Given the description of an element on the screen output the (x, y) to click on. 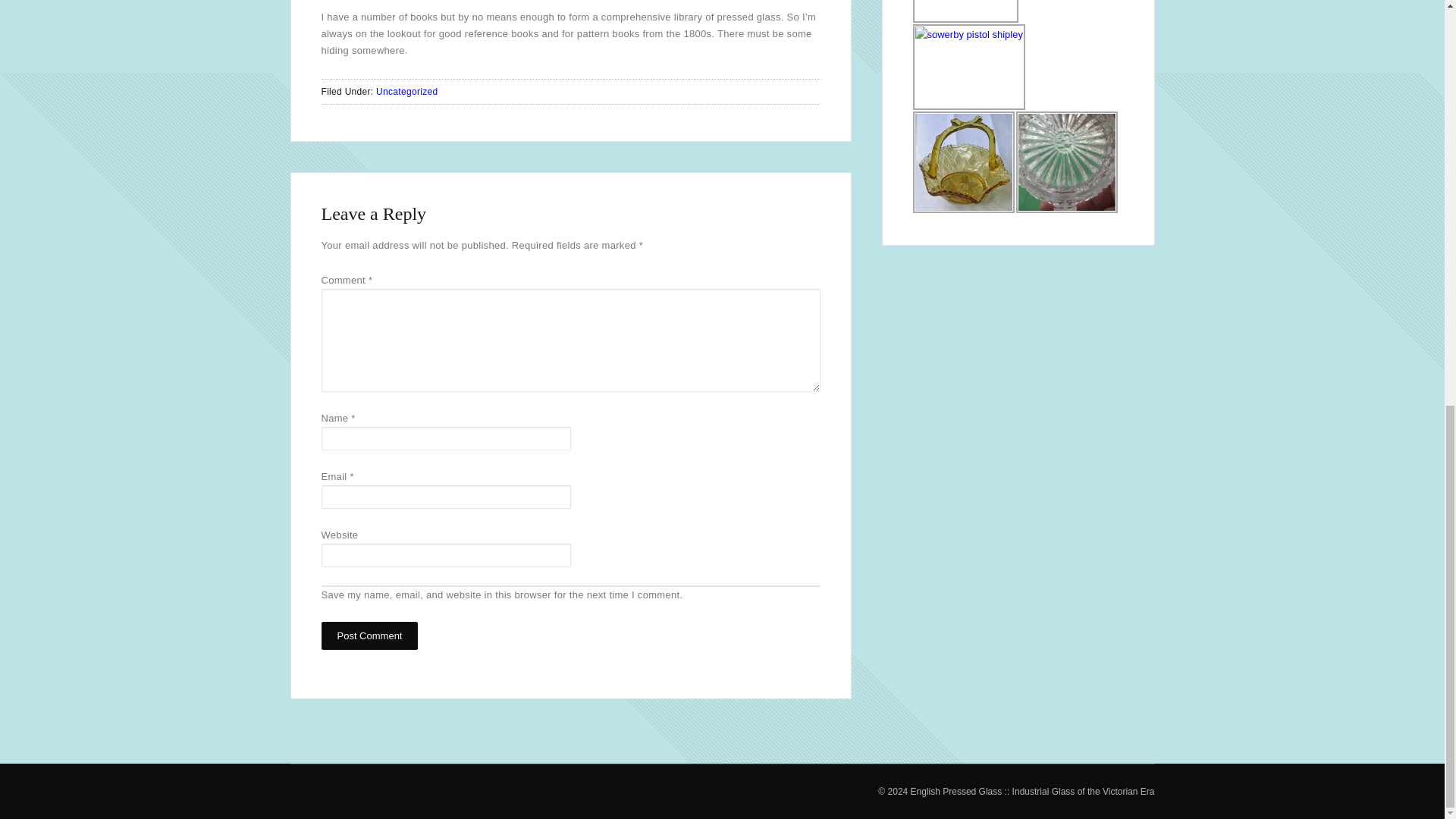
sowerby bag shipley (965, 11)
Post Comment (370, 635)
sowerby pistol shipley (968, 66)
Uncategorized (406, 91)
davidson-hobnail-jug-lion-mark (1067, 161)
greenerbasket (963, 161)
Post Comment (370, 635)
